Given the description of an element on the screen output the (x, y) to click on. 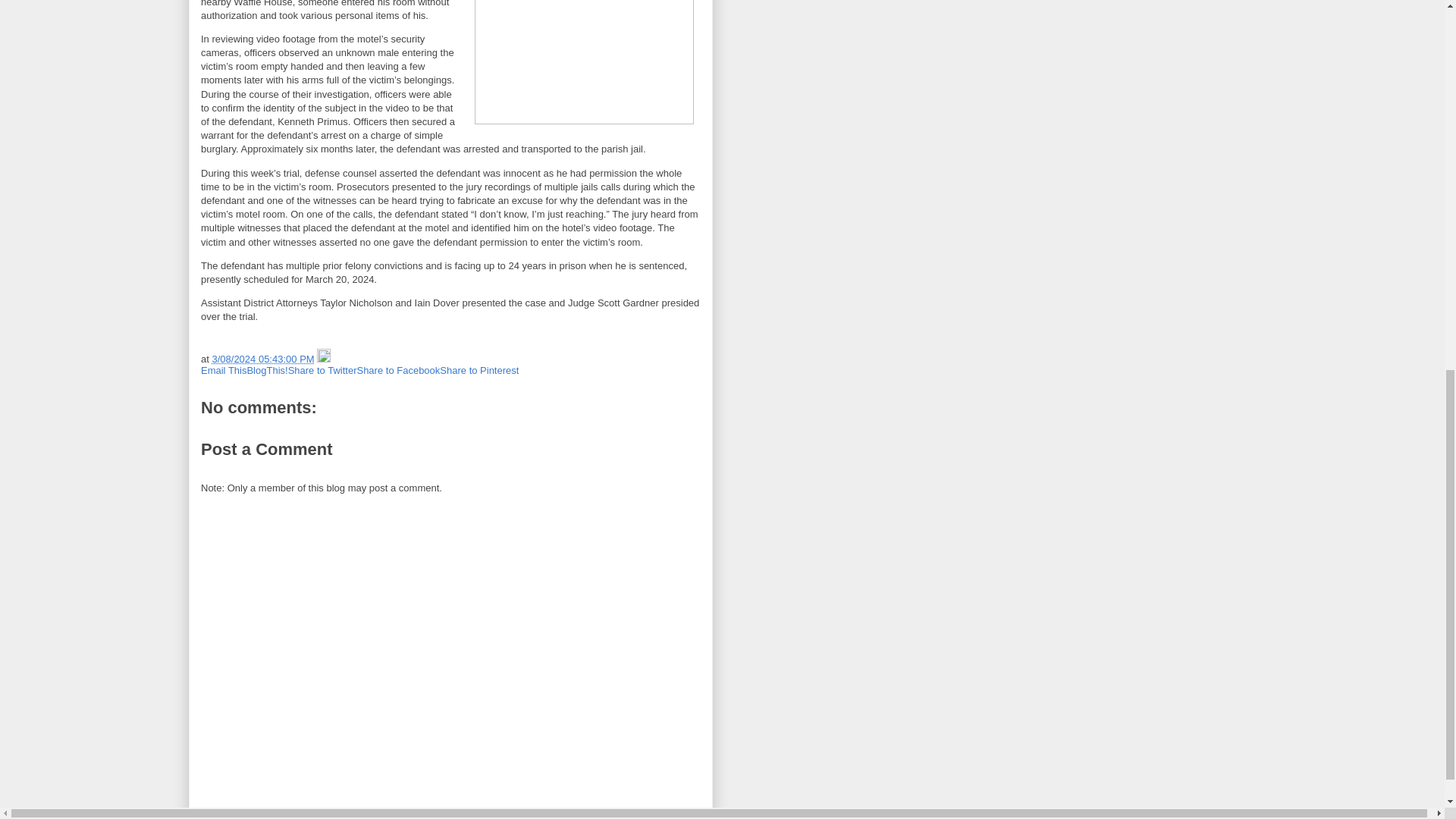
Email This (223, 369)
Edit Post (323, 358)
Share to Pinterest (478, 369)
permanent link (262, 358)
Share to Facebook (397, 369)
BlogThis! (266, 369)
BlogThis! (266, 369)
Share to Facebook (397, 369)
Email This (223, 369)
Share to Twitter (322, 369)
Share to Pinterest (478, 369)
Share to Twitter (322, 369)
